Given the description of an element on the screen output the (x, y) to click on. 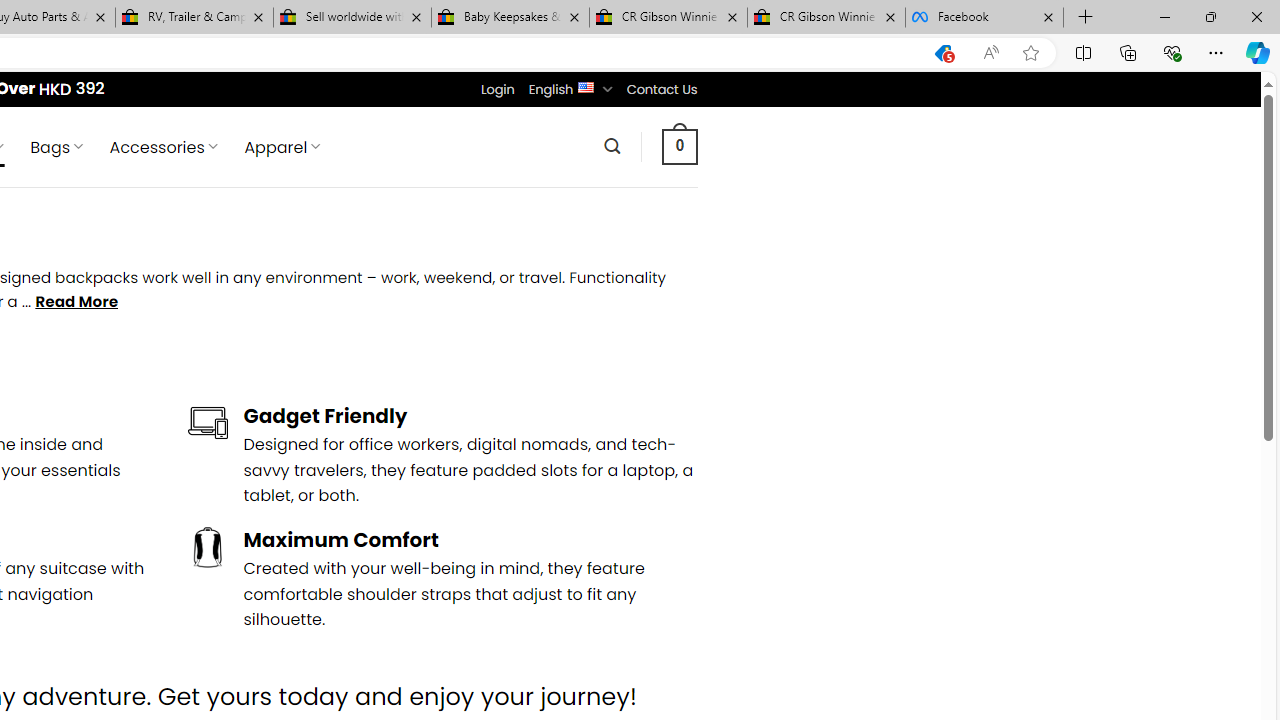
Baby Keepsakes & Announcements for sale | eBay (509, 17)
English (586, 86)
